Given the description of an element on the screen output the (x, y) to click on. 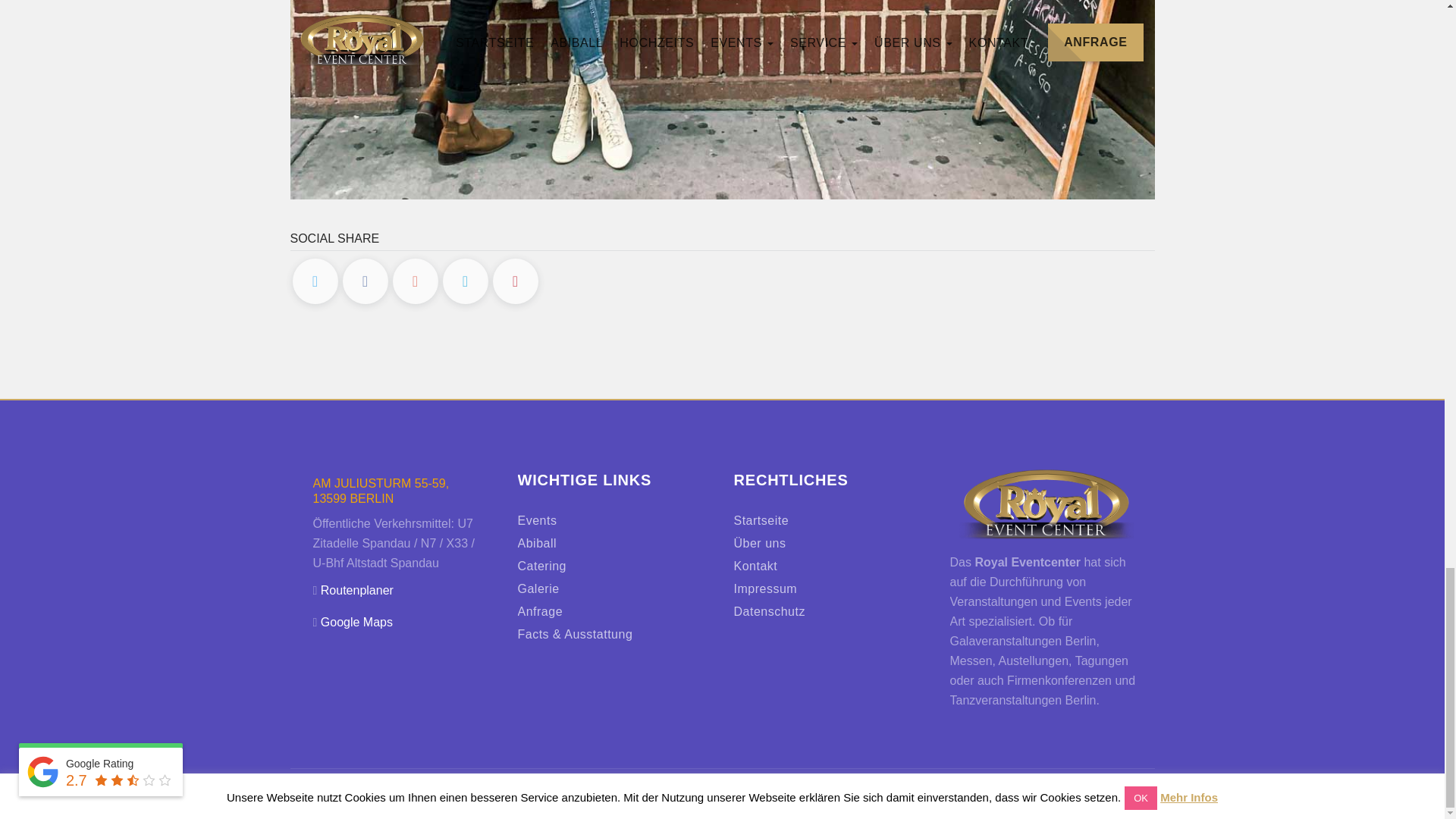
Anfrage (539, 611)
Catering (541, 565)
Abiball (536, 543)
Webdesign Berlin (998, 797)
Google Maps (356, 621)
Startseite (761, 520)
Routenplaner (356, 590)
Impressum (765, 588)
Events (536, 520)
Galerie (537, 588)
Kontakt (755, 565)
